Given the description of an element on the screen output the (x, y) to click on. 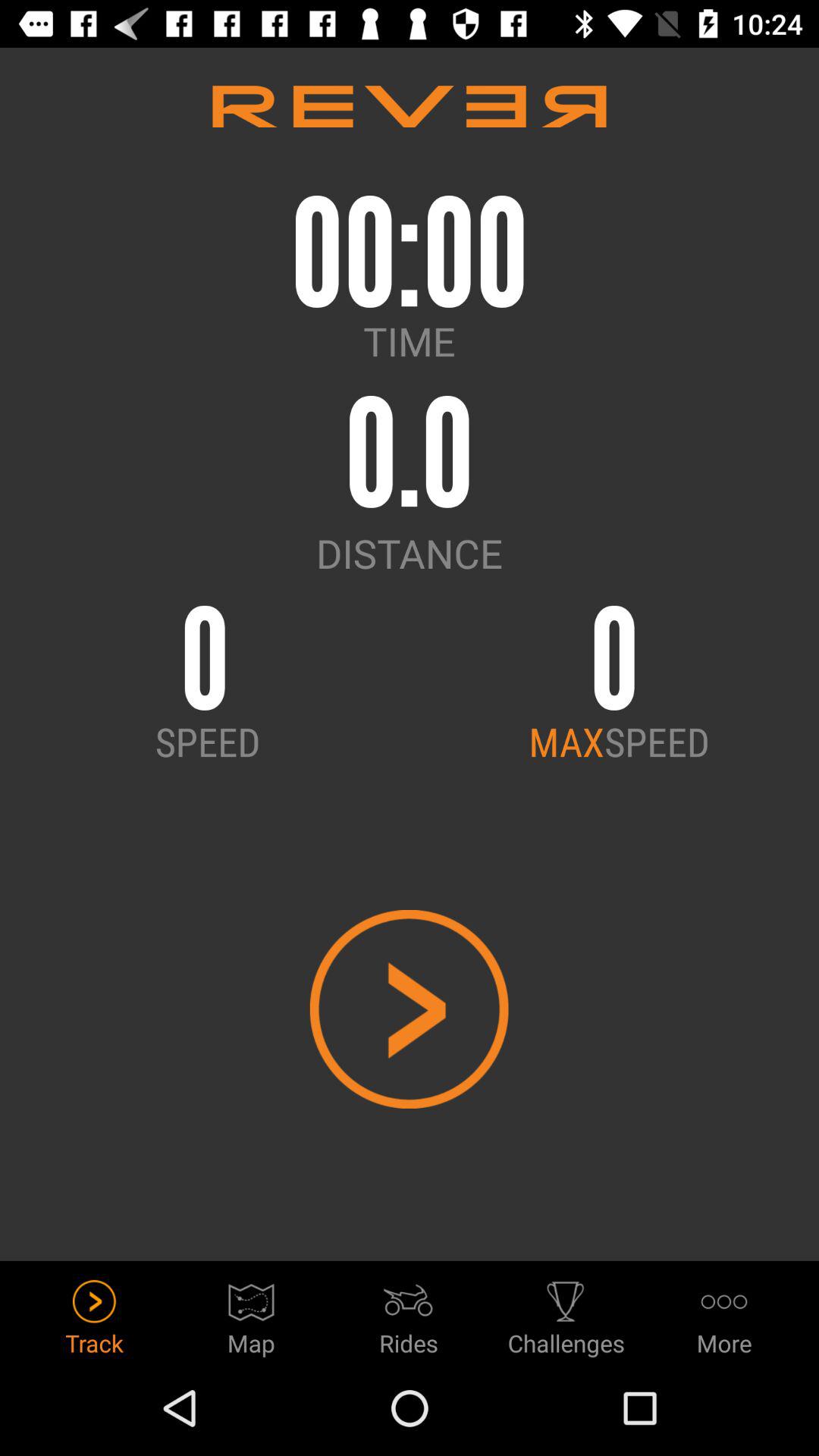
press item to the left of the challenges item (408, 1313)
